Given the description of an element on the screen output the (x, y) to click on. 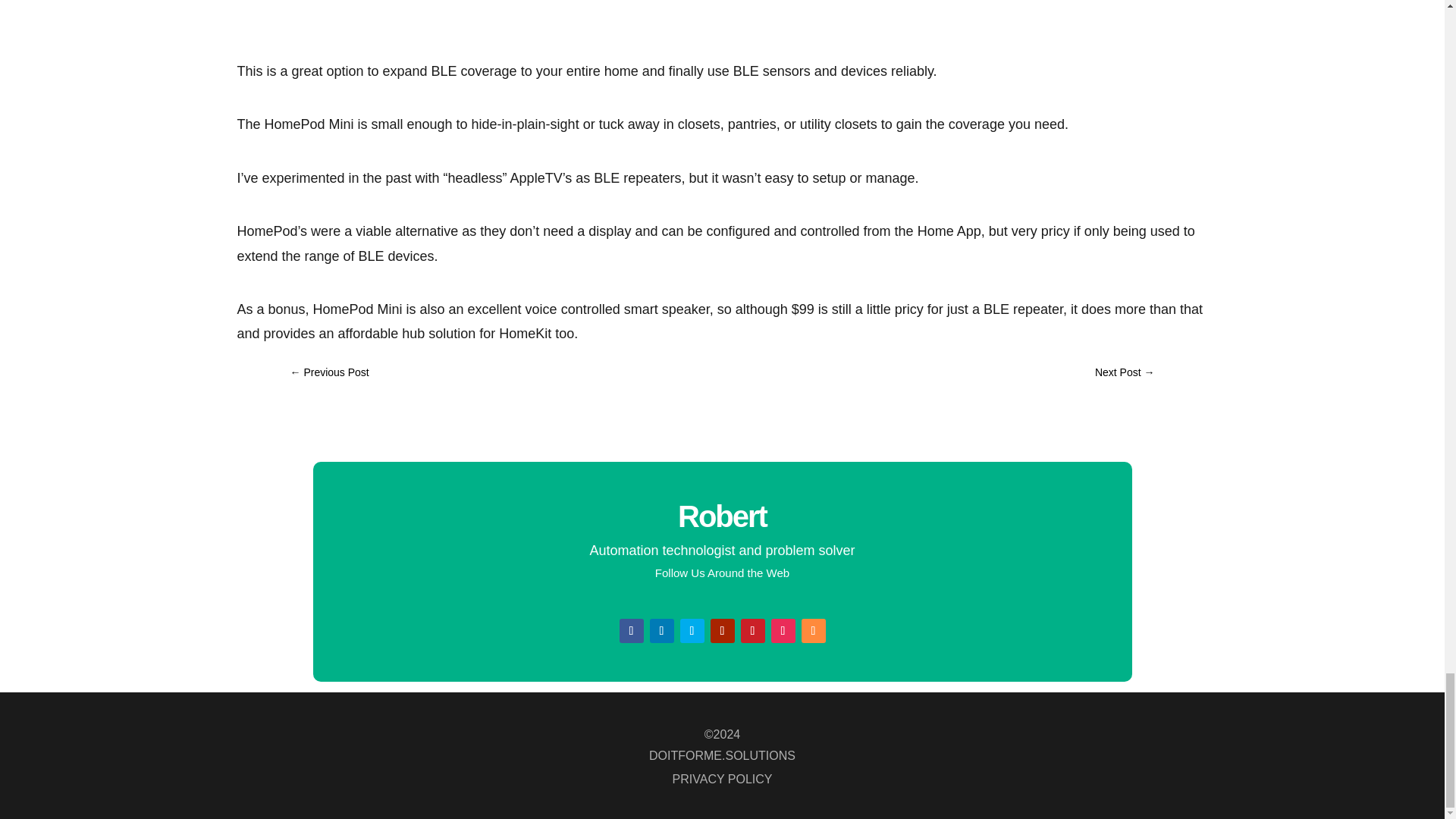
Follow on Facebook (630, 630)
Follow on Pinterest (751, 630)
Follow on Youtube (721, 630)
Follow on Twitter (691, 630)
Follow on LinkedIn (660, 630)
Follow on Instagram (782, 630)
Follow on RSS (812, 630)
